Given the description of an element on the screen output the (x, y) to click on. 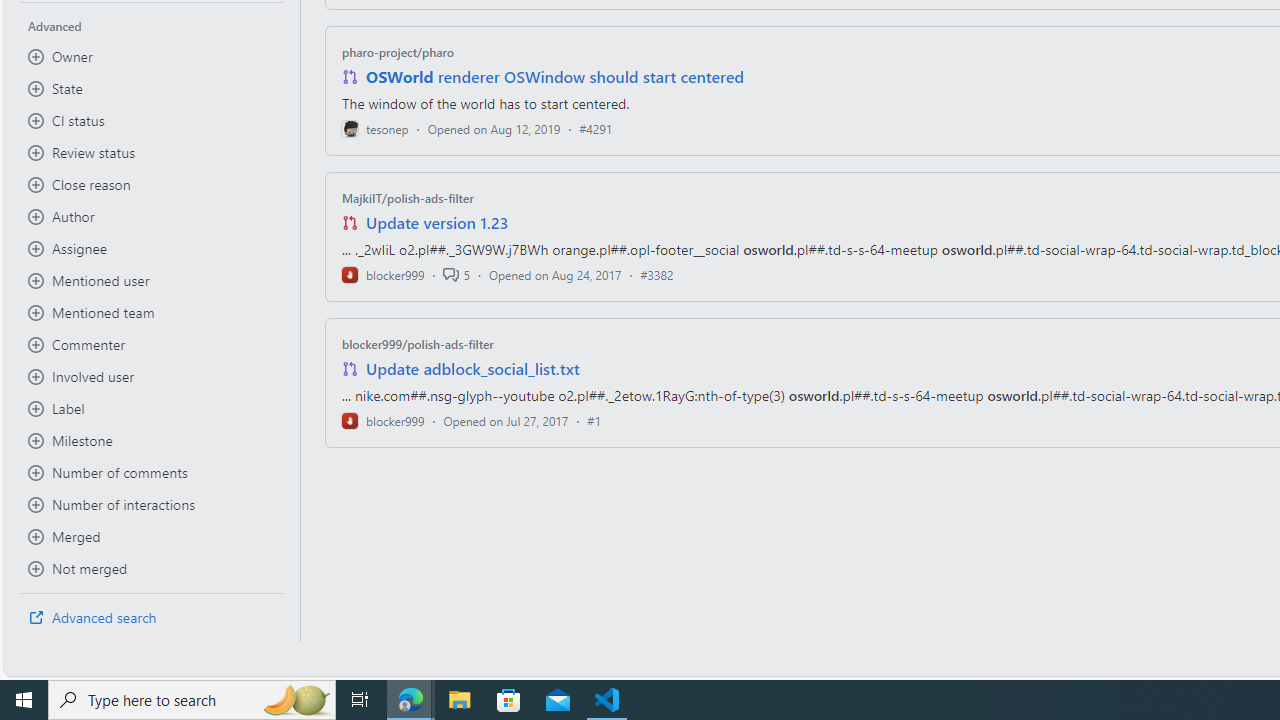
#1 (594, 420)
pharo-project/pharo (397, 52)
Advanced search (152, 617)
